Given the description of an element on the screen output the (x, y) to click on. 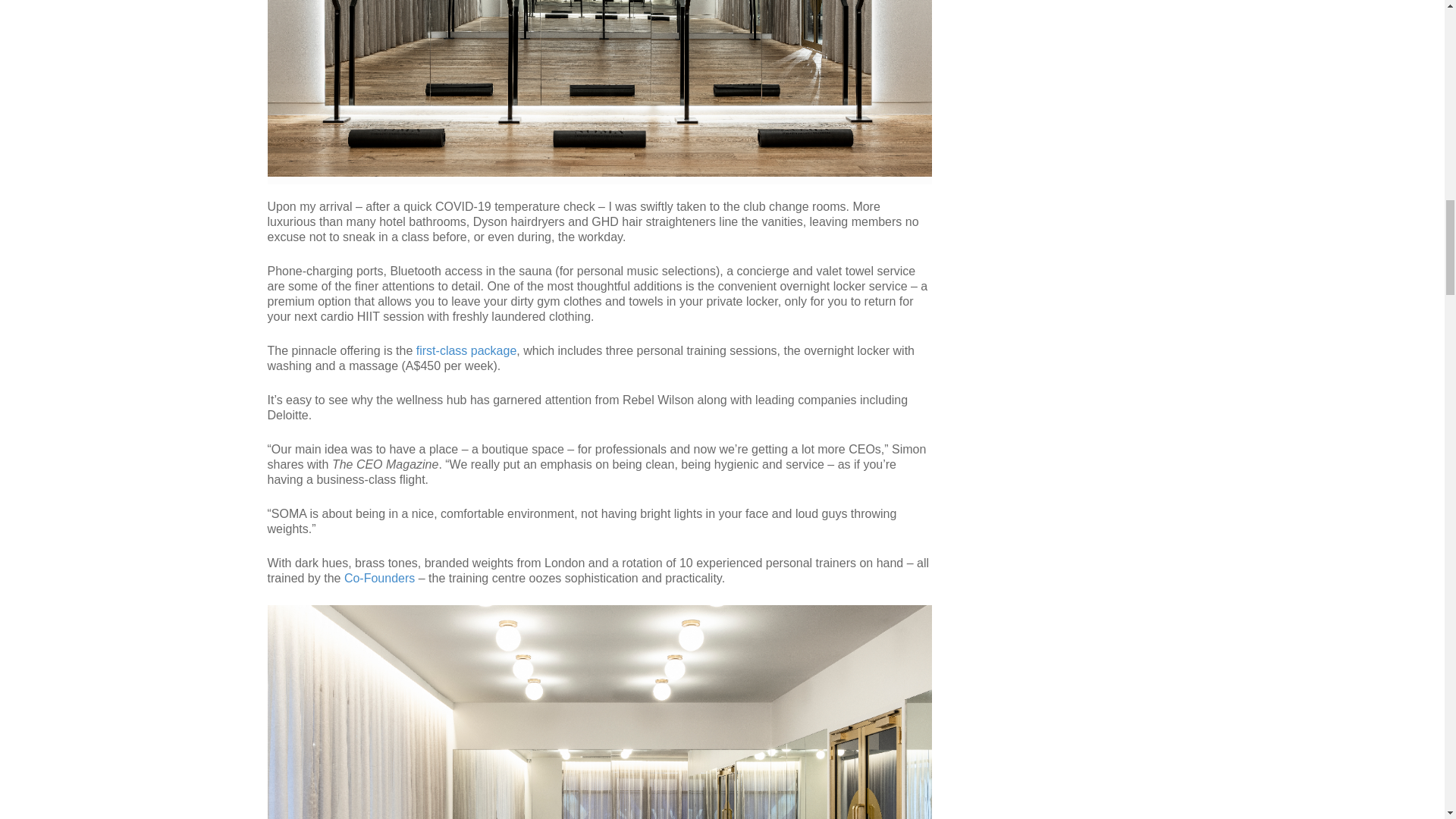
first-class package (466, 350)
Co-Founders (378, 577)
